Given the description of an element on the screen output the (x, y) to click on. 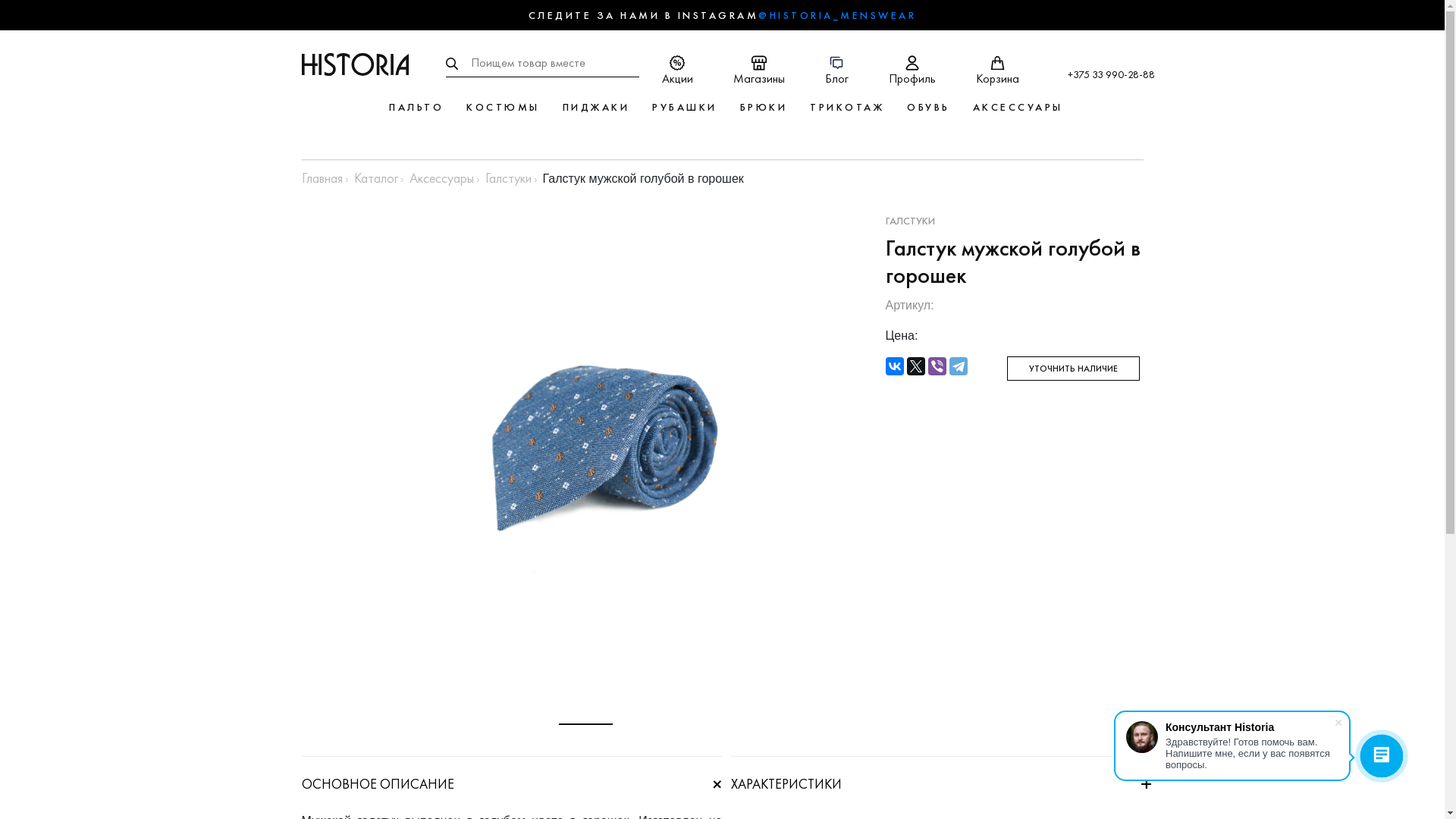
@HISTORIA_MENSWEAR Element type: text (837, 14)
1 Element type: text (585, 723)
+375 33 990-28-88 Element type: text (1110, 74)
Viber Element type: hover (937, 366)
Twitter Element type: hover (915, 366)
Telegram Element type: hover (958, 366)
